Given the description of an element on the screen output the (x, y) to click on. 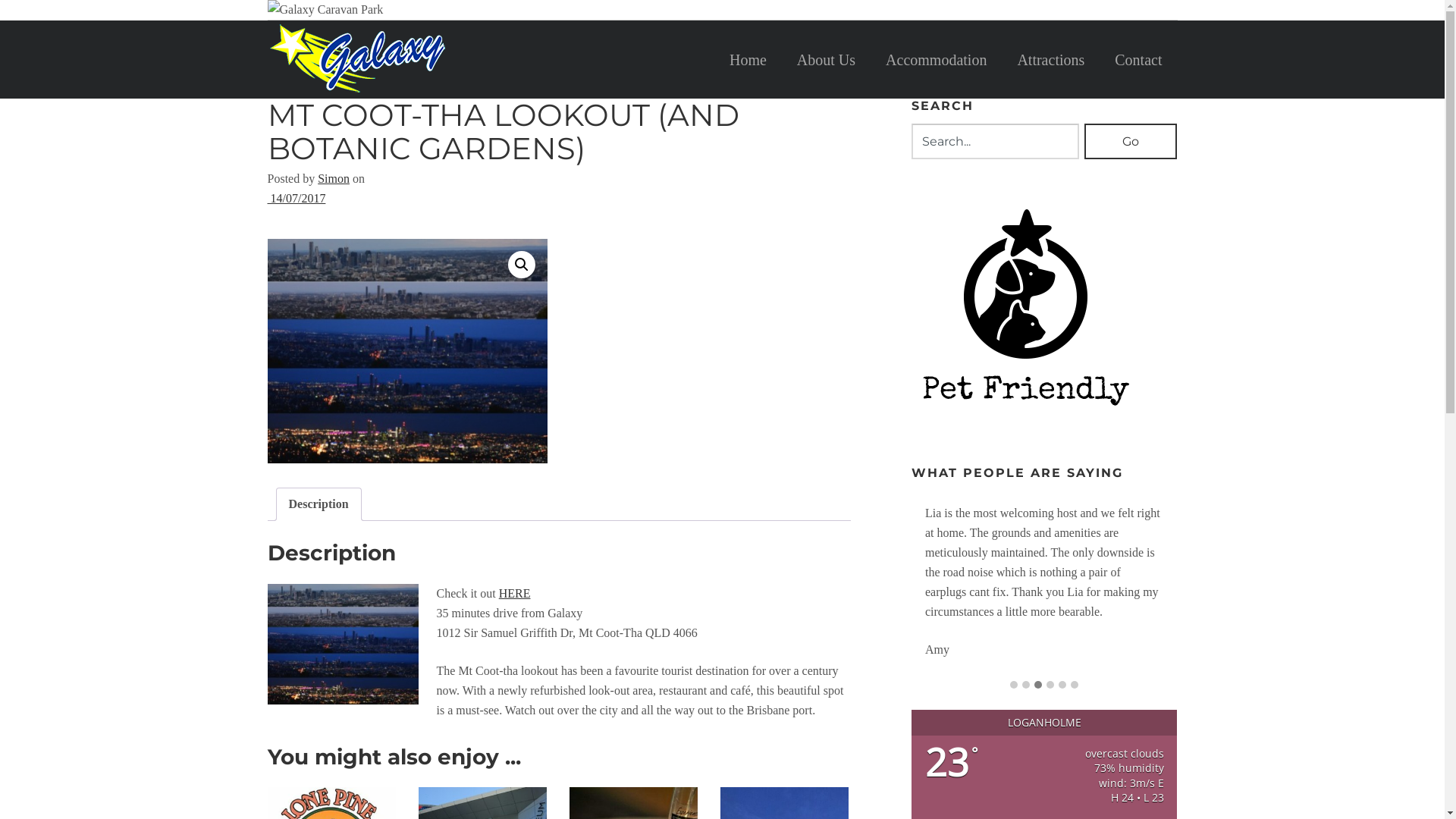
Home Element type: text (747, 58)
Simon Element type: text (333, 178)
Accommodation Element type: text (935, 58)
Attractions Element type: text (1050, 58)
Contact Element type: text (1137, 58)
HERE Element type: text (514, 592)
mt coot tha Element type: hover (406, 350)
Galaxy Caravan Park Element type: hover (448, 59)
Go Element type: text (1130, 141)
 14/07/2017 Element type: text (295, 197)
Description Element type: text (318, 504)
About Us Element type: text (826, 58)
MT COOT-THA LOOKOUT (AND BOTANIC GARDENS) Element type: text (502, 131)
